Given the description of an element on the screen output the (x, y) to click on. 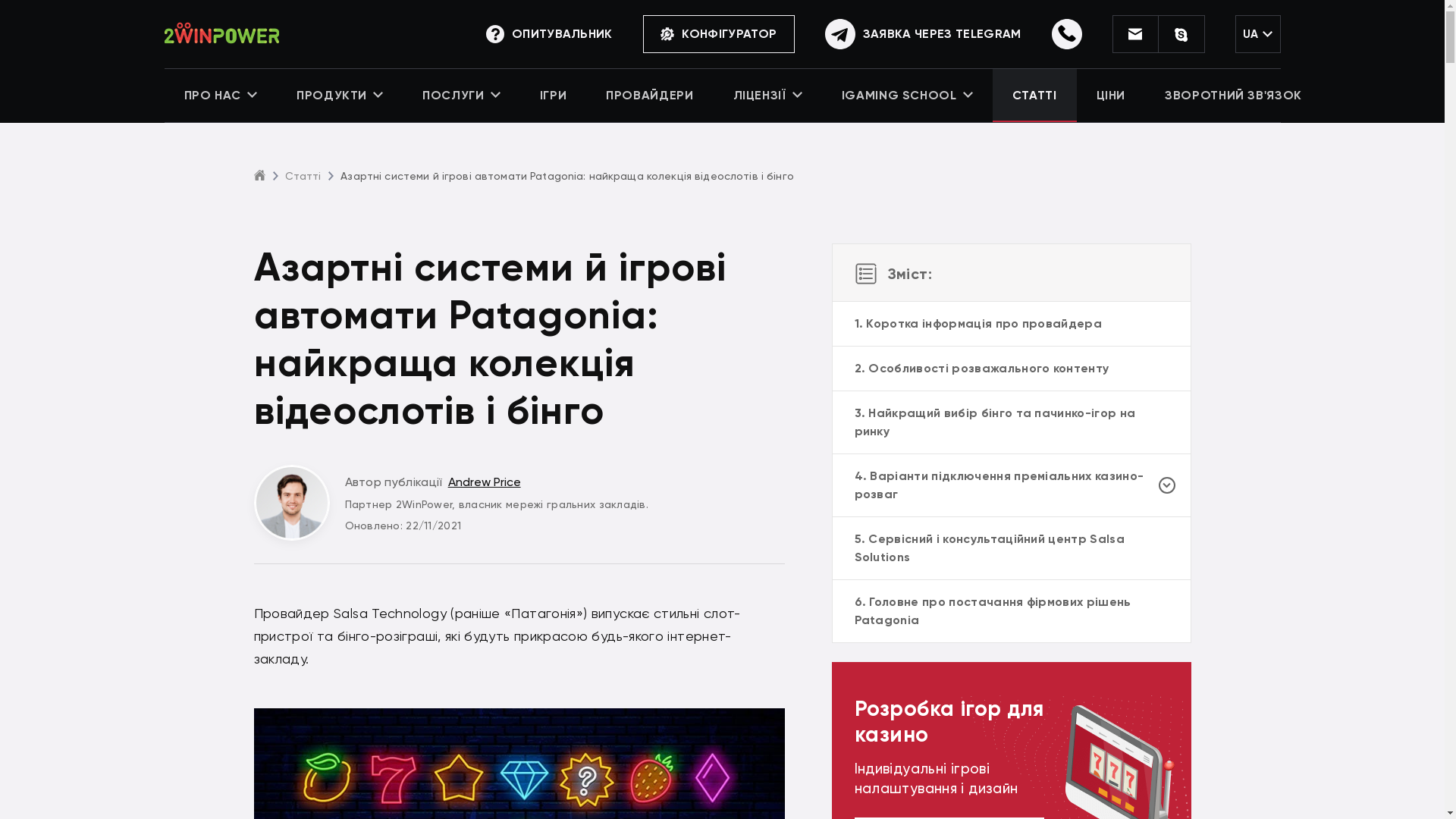
Andrew Price Element type: text (484, 481)
IGAMING SCHOOL Element type: text (907, 95)
